Given the description of an element on the screen output the (x, y) to click on. 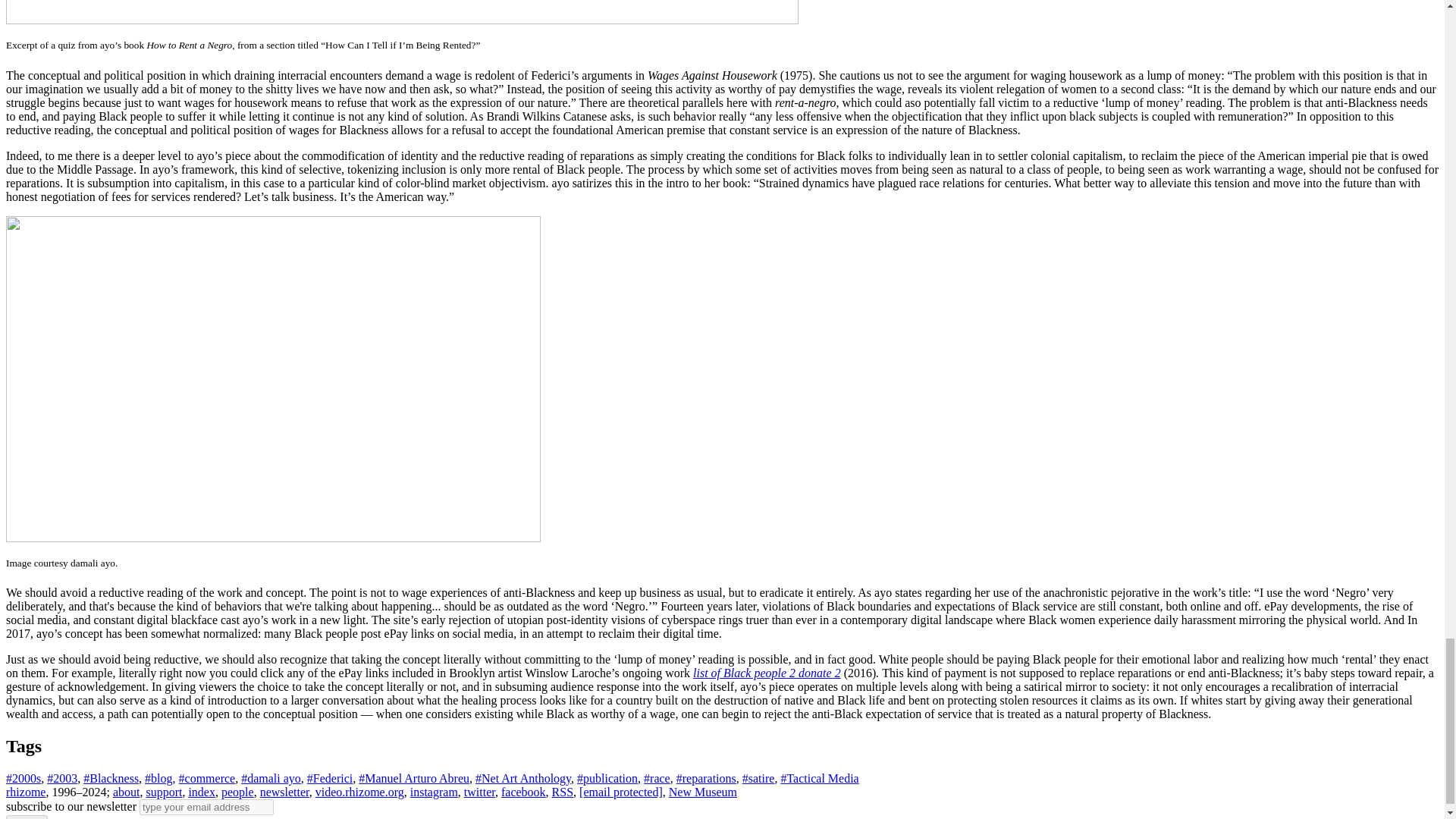
index (201, 791)
people (237, 791)
about (126, 791)
newsletter (284, 791)
video.rhizome.org (359, 791)
Tags (23, 745)
list of Black people 2 donate 2 (767, 672)
twitter (479, 791)
rhizome (25, 791)
support (163, 791)
